Given the description of an element on the screen output the (x, y) to click on. 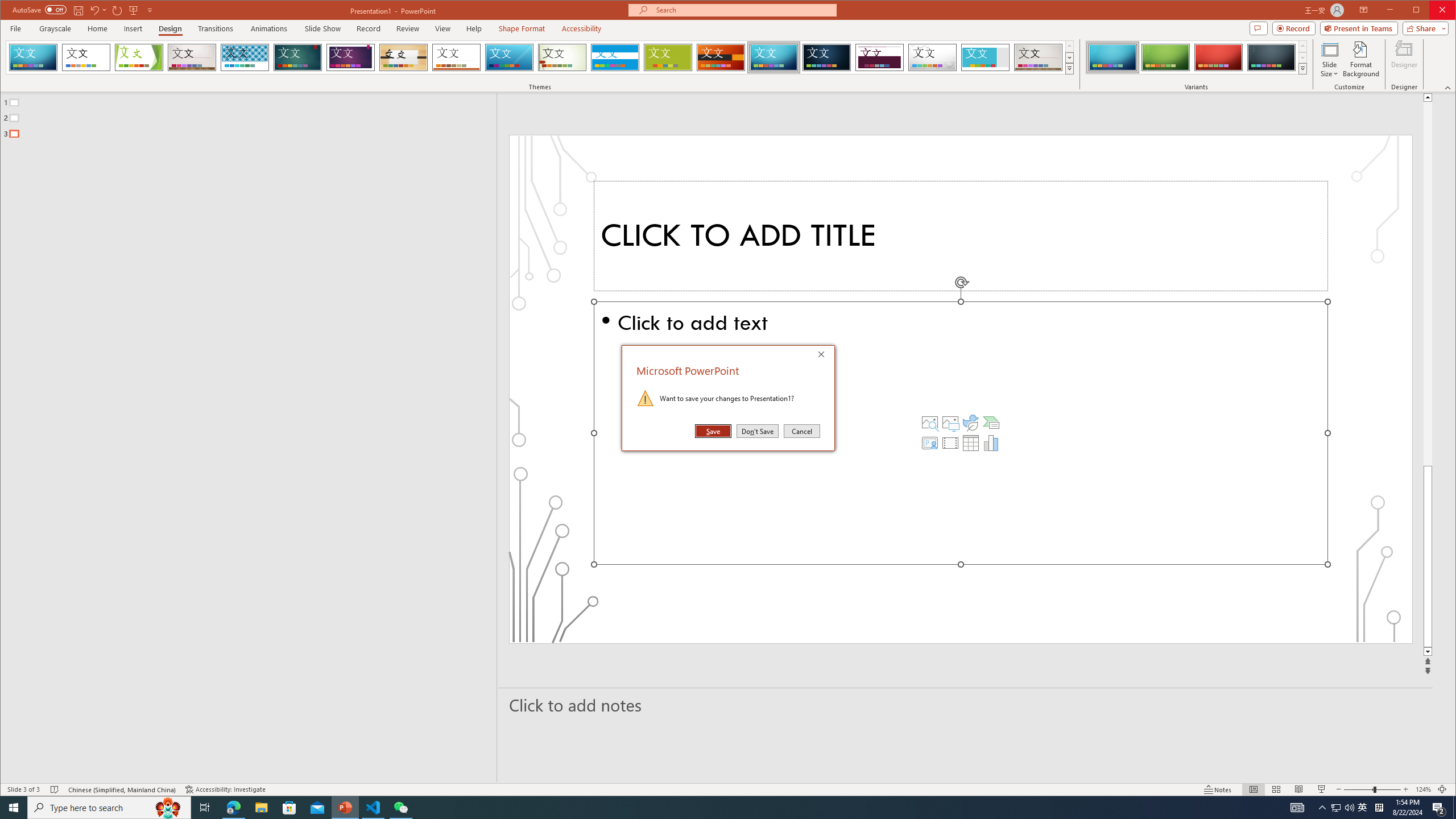
Microsoft search (742, 10)
PowerPoint - 1 running window (345, 807)
Warning Icon (1362, 807)
Insert Video (645, 398)
Frame (949, 443)
Ion (985, 57)
Grayscale (297, 57)
Cancel (55, 28)
Action Center, 2 new notifications (801, 431)
Insert an Icon (1439, 807)
Visual Studio Code - 1 running window (970, 422)
Line down (373, 807)
